Given the description of an element on the screen output the (x, y) to click on. 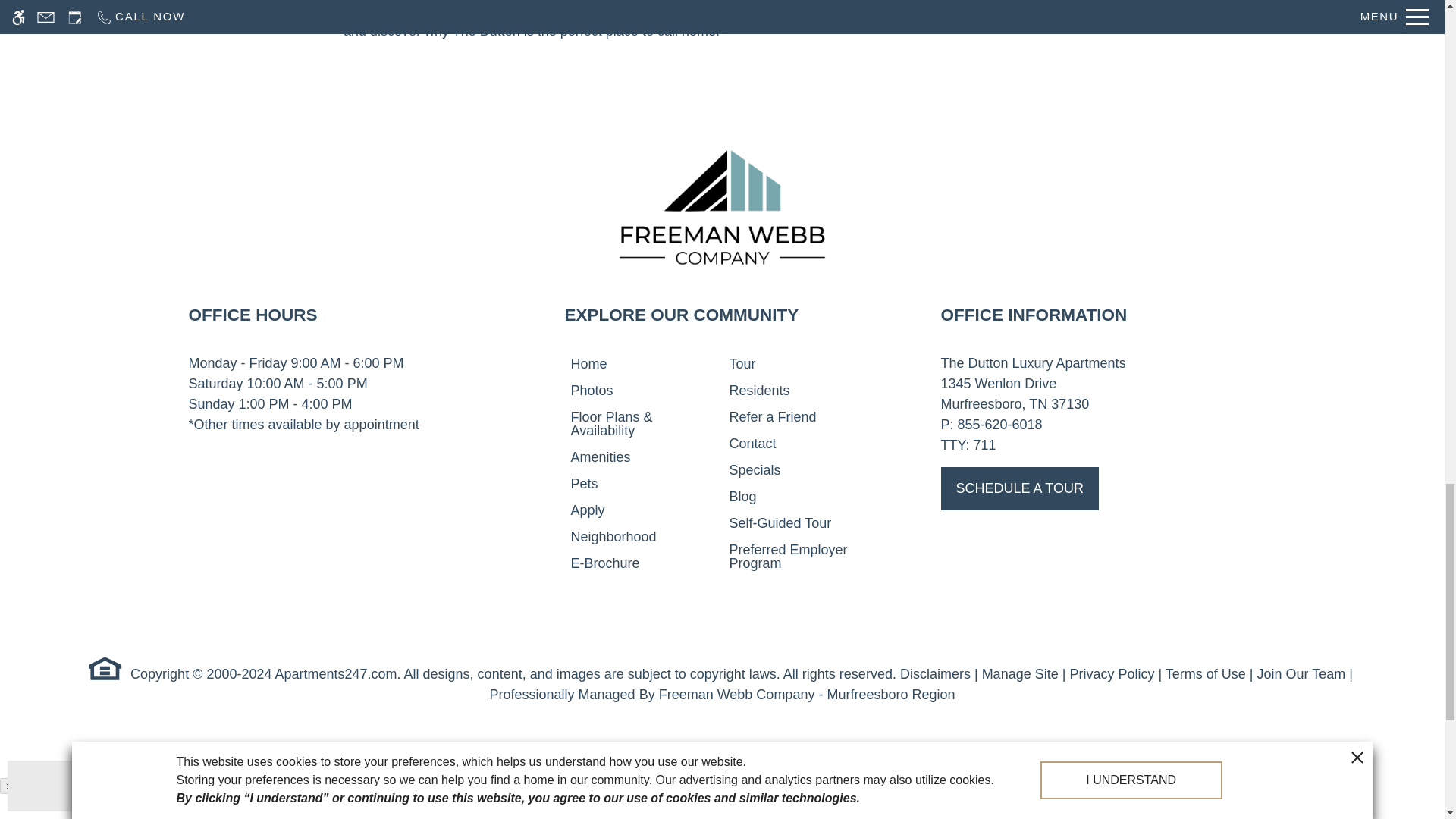
Manage Site (1019, 674)
Freeman Webb Company - Murfreesboro Region (807, 694)
